Given the description of an element on the screen output the (x, y) to click on. 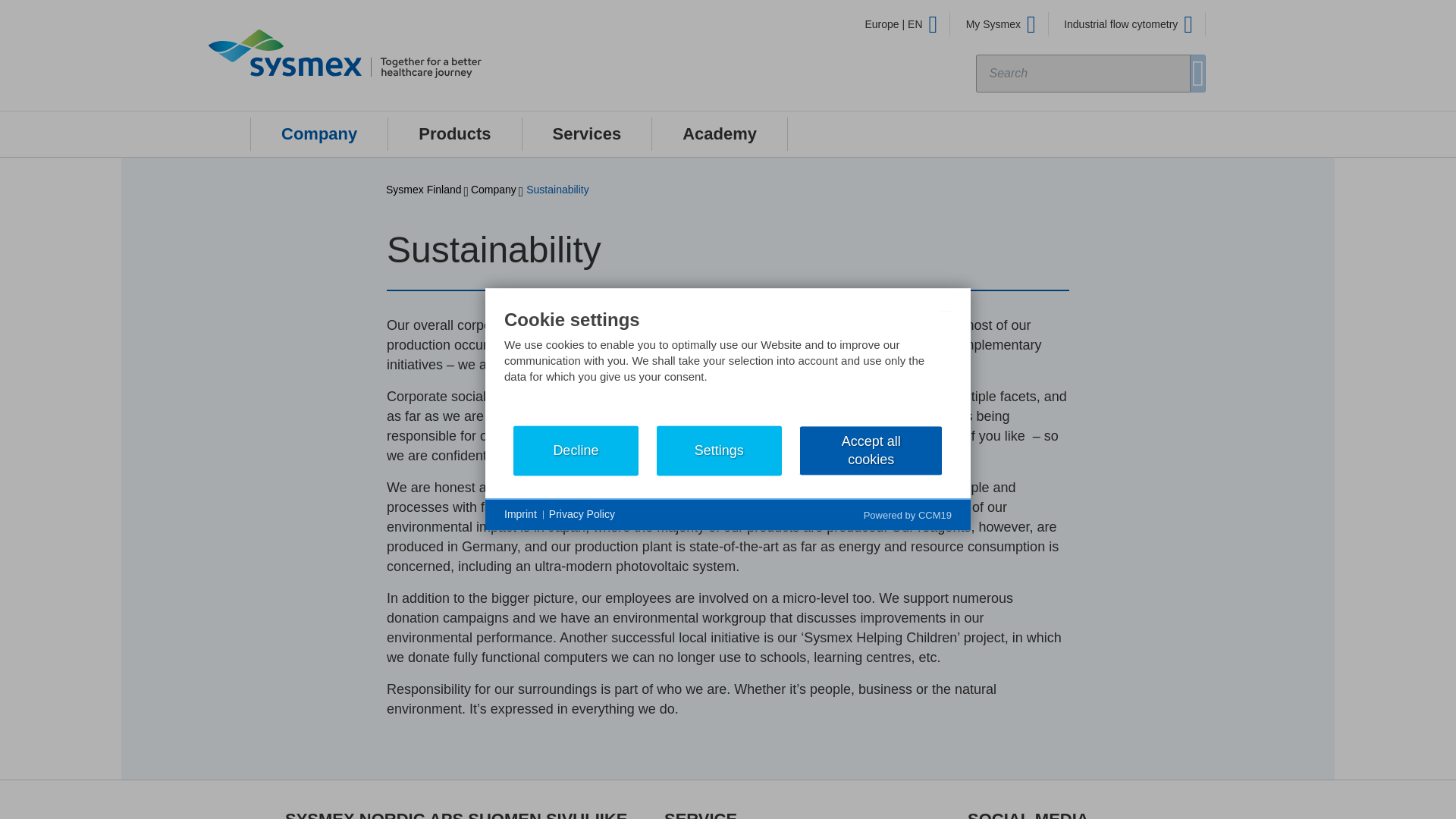
My Sysmex (1000, 24)
Industrial flow cytometry (1128, 24)
